Given the description of an element on the screen output the (x, y) to click on. 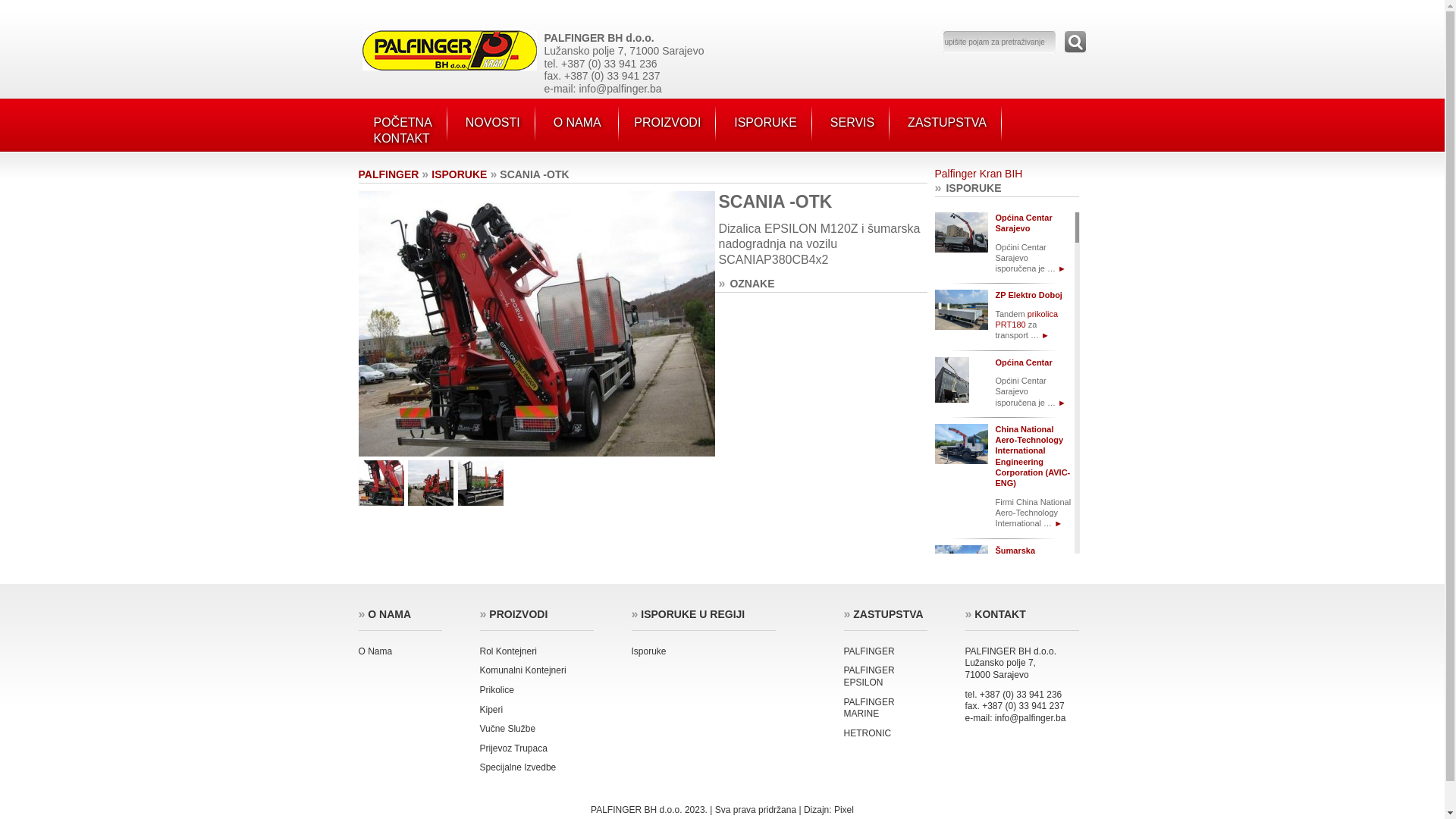
O Nama Element type: text (374, 651)
Pixel Element type: text (843, 809)
PROIZVODI Element type: text (666, 122)
Isporuke Element type: text (647, 651)
Rol Kontejneri Element type: text (507, 651)
Kiperi Element type: text (490, 709)
ISPORUKE Element type: text (765, 122)
Specijalne Izvedbe Element type: text (517, 767)
ZP Elektro Doboj Element type: text (1027, 294)
PALFINGER EPSILON Element type: text (868, 676)
PALFINGER Element type: text (868, 651)
Palfinger Element type: hover (449, 66)
NOVOSTI Element type: text (492, 122)
prikolica PRT180 Element type: text (1025, 319)
O NAMA Element type: text (576, 122)
KONTAKT Element type: text (401, 137)
SERVIS Element type: text (852, 122)
ZASTUPSTVA Element type: text (946, 122)
PALFINGER Element type: text (387, 174)
HETRONIC Element type: text (867, 733)
Prikolice Element type: text (496, 689)
Palfinger Kran BIH Element type: text (978, 173)
Prijevoz Trupaca Element type: text (512, 748)
PALFINGER MARINE Element type: text (868, 707)
Komunalni Kontejneri Element type: text (522, 670)
ISPORUKE Element type: text (458, 174)
